Given the description of an element on the screen output the (x, y) to click on. 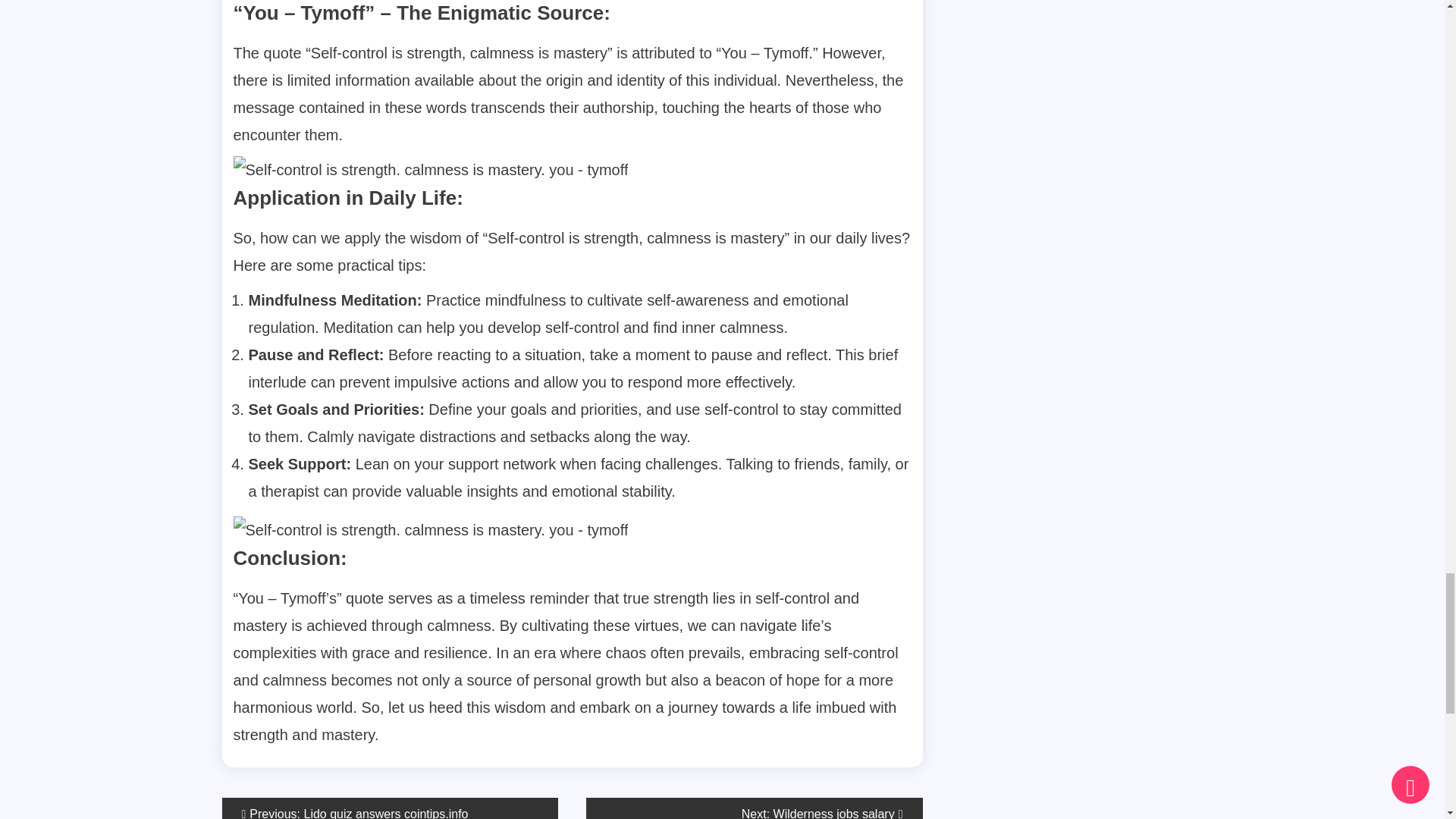
Next: Wilderness jobs salary (754, 808)
Previous: Lido quiz answers cointips.info (389, 808)
